Given the description of an element on the screen output the (x, y) to click on. 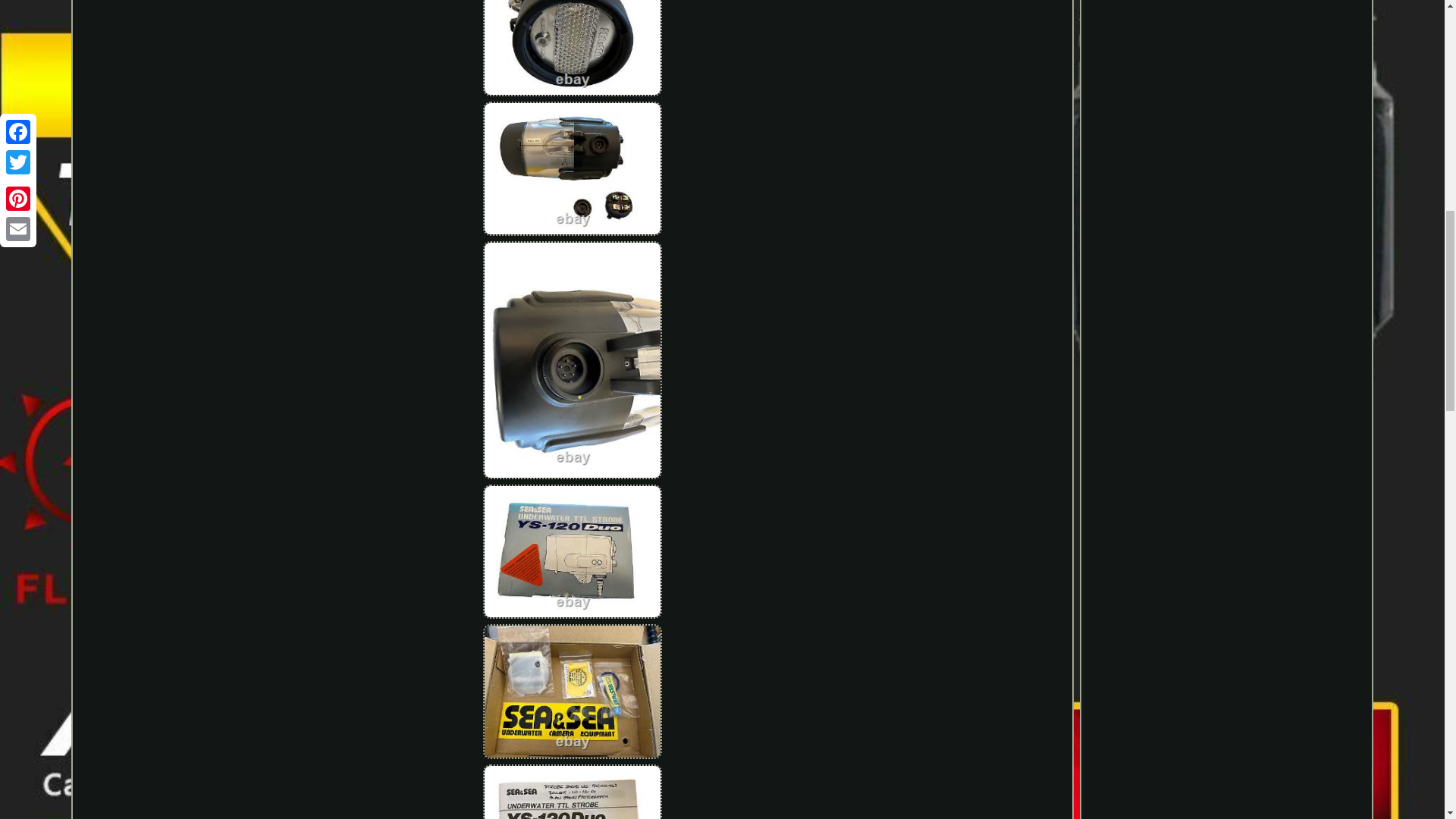
Sea and Sea Underwater TTL Strobe YS-120 Duo Yellow Unused (572, 551)
Sea and Sea Underwater TTL Strobe YS-120 Duo Yellow Unused (572, 48)
Sea And Sea Underwater Ttl Strobe Ys-120 Duo Yellow Unused (571, 169)
Sea And Sea Underwater Ttl Strobe Ys-120 Duo Yellow Unused (571, 49)
Sea And Sea Underwater Ttl Strobe Ys-120 Duo Yellow Unused (571, 553)
Sea and Sea Underwater TTL Strobe YS-120 Duo Yellow Unused (572, 168)
Sea And Sea Underwater Ttl Strobe Ys-120 Duo Yellow Unused (571, 692)
Sea and Sea Underwater TTL Strobe YS-120 Duo Yellow Unused (572, 691)
Sea And Sea Underwater Ttl Strobe Ys-120 Duo Yellow Unused (571, 790)
